Given the description of an element on the screen output the (x, y) to click on. 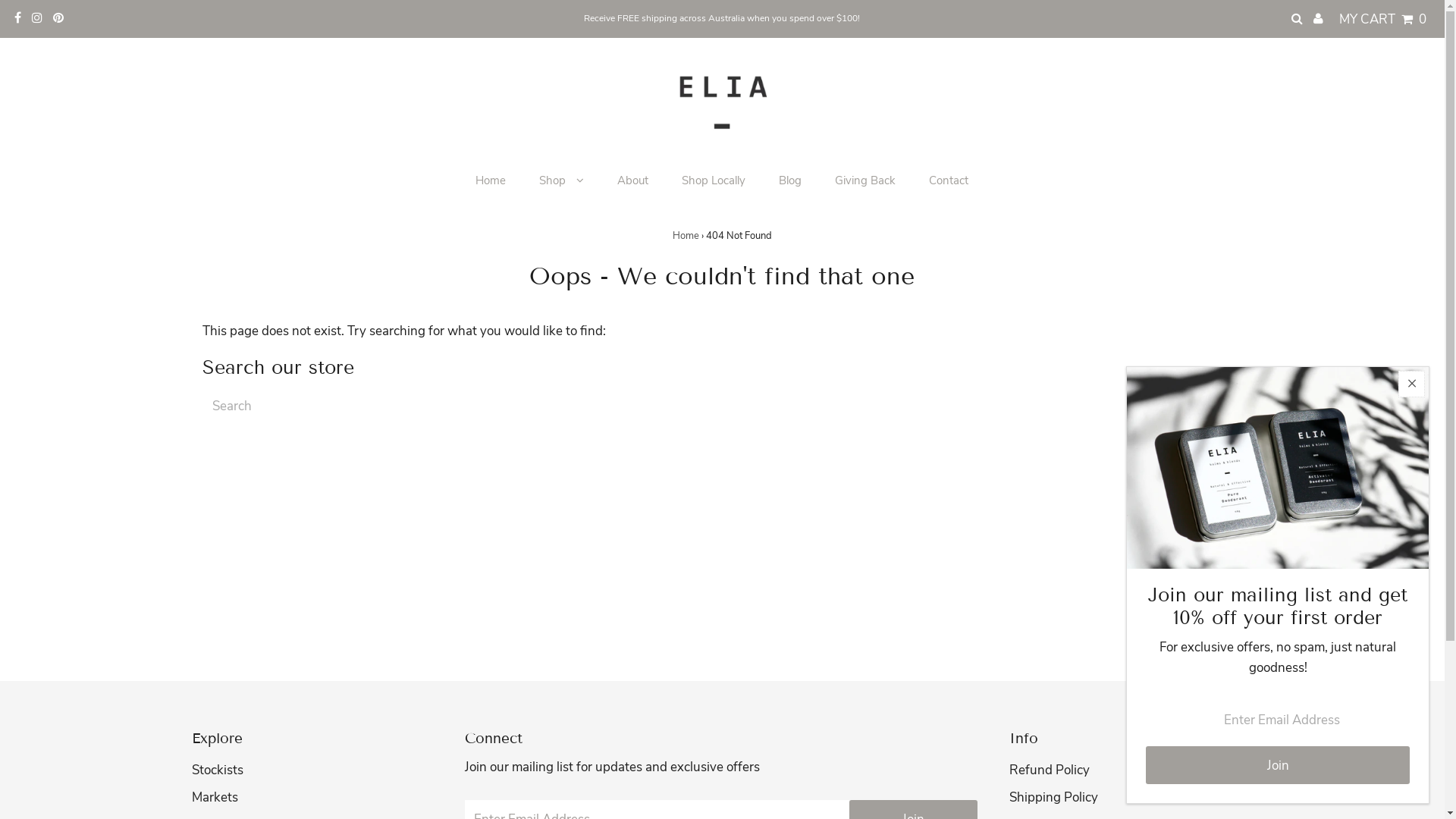
Shop Locally Element type: text (713, 180)
Home Element type: text (685, 235)
Shipping Policy Element type: text (1052, 797)
Contact Element type: text (948, 180)
Join Element type: text (1277, 765)
Blog Element type: text (789, 180)
Shop Element type: text (561, 180)
Giving Back Element type: text (864, 180)
Home Element type: text (490, 180)
About Element type: text (632, 180)
Stockists Element type: text (216, 769)
MY CART    0 Element type: text (1382, 18)
Markets Element type: text (214, 797)
Refund Policy Element type: text (1048, 769)
